Given the description of an element on the screen output the (x, y) to click on. 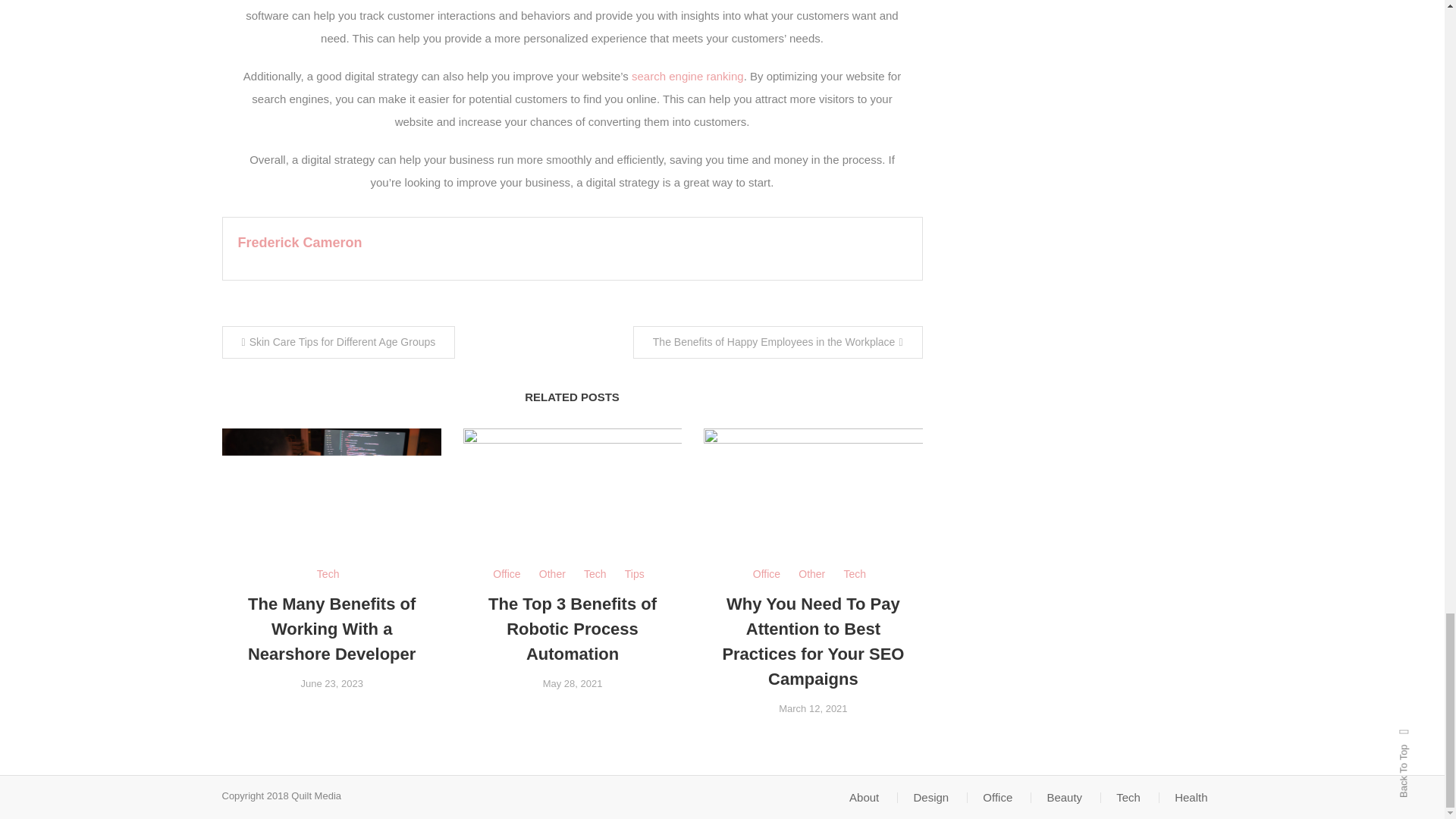
Office (766, 574)
Posts by Frederick Cameron (300, 242)
May 28, 2021 (572, 683)
Tech (328, 574)
June 23, 2023 (330, 683)
Frederick Cameron (300, 242)
The Top 3 Benefits of Robotic Process Automation (571, 628)
Other (552, 574)
search engine ranking (687, 75)
Skin Care Tips for Different Age Groups (337, 341)
The Benefits of Happy Employees in the Workplace (778, 341)
Office (506, 574)
The Many Benefits of Working With a Nearshore Developer (330, 628)
Tech (595, 574)
Tips (634, 574)
